Given the description of an element on the screen output the (x, y) to click on. 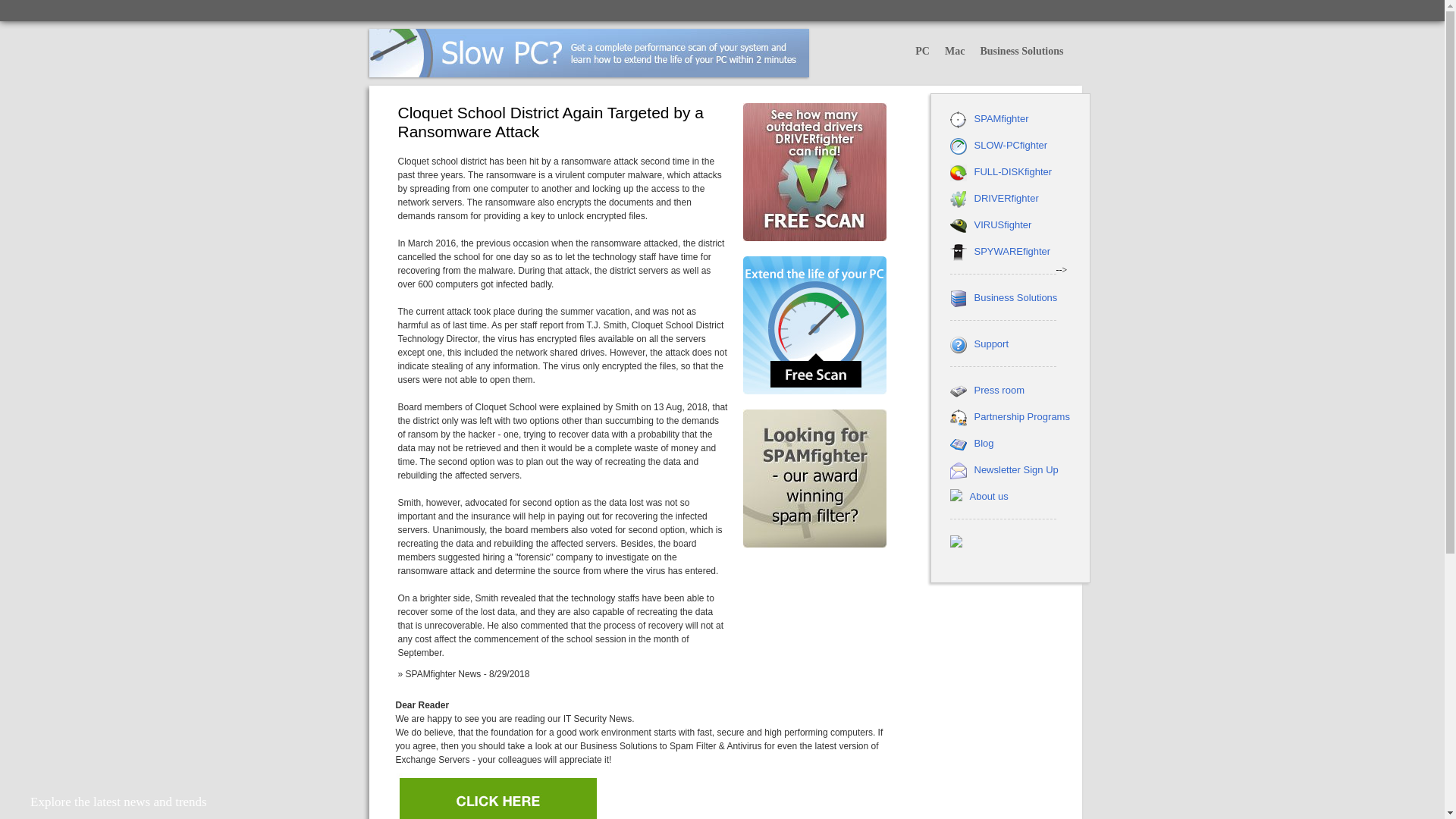
PC (922, 51)
Business Solutions (1015, 297)
SLOW-PCfighter (1010, 144)
SPYWAREfighter (1011, 251)
FULL-DISKfighter (1012, 171)
About us (988, 496)
Mac (954, 51)
Blog (983, 442)
DRIVERfighter (1006, 197)
Partnership Programs (1021, 416)
VIRUSfighter (1002, 224)
Newsletter Sign Up (1016, 469)
Business Solutions (1021, 51)
Support (991, 343)
Press room (998, 389)
